Given the description of an element on the screen output the (x, y) to click on. 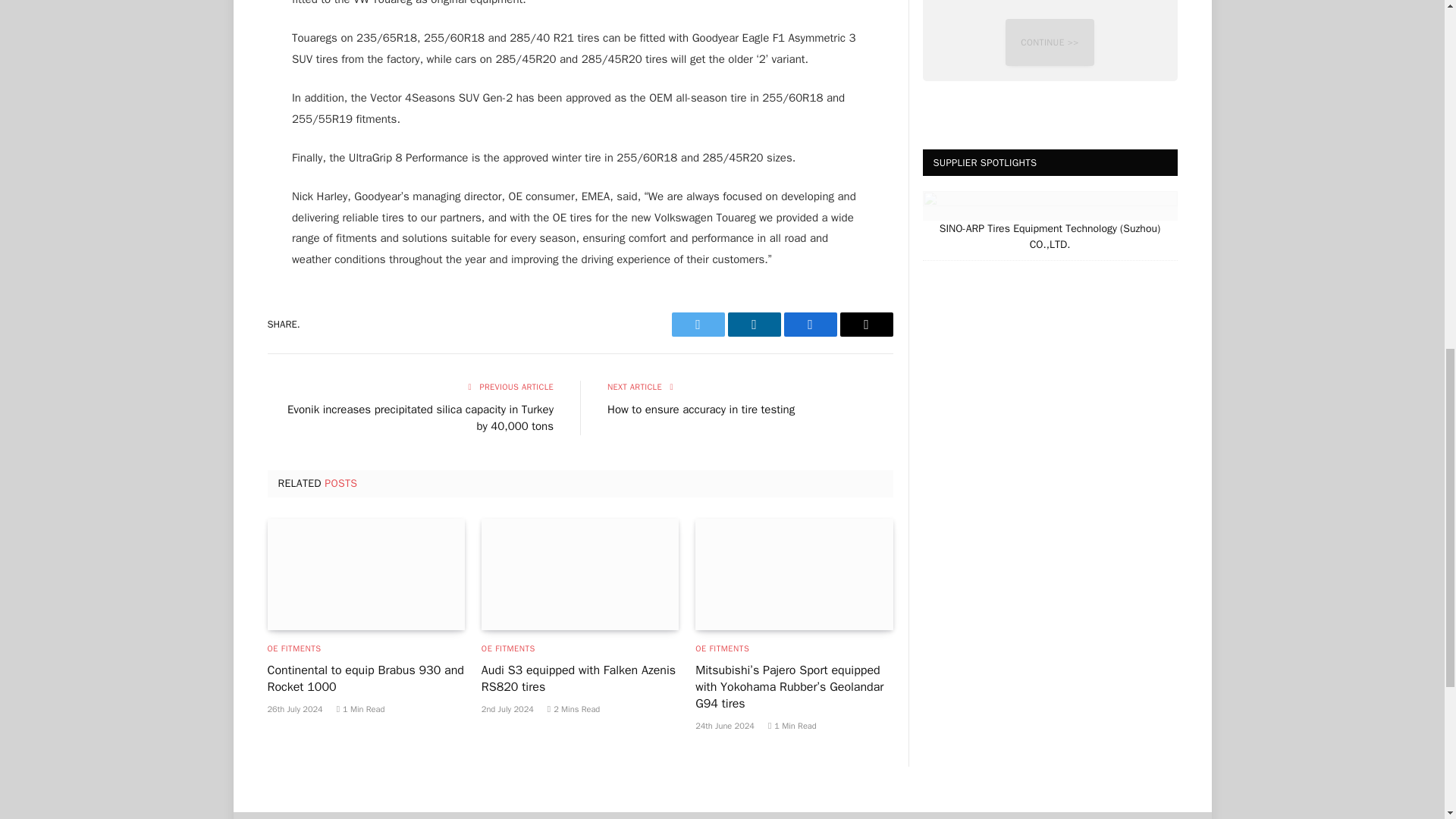
Share on Twitter (698, 324)
Share on LinkedIn (754, 324)
